Given the description of an element on the screen output the (x, y) to click on. 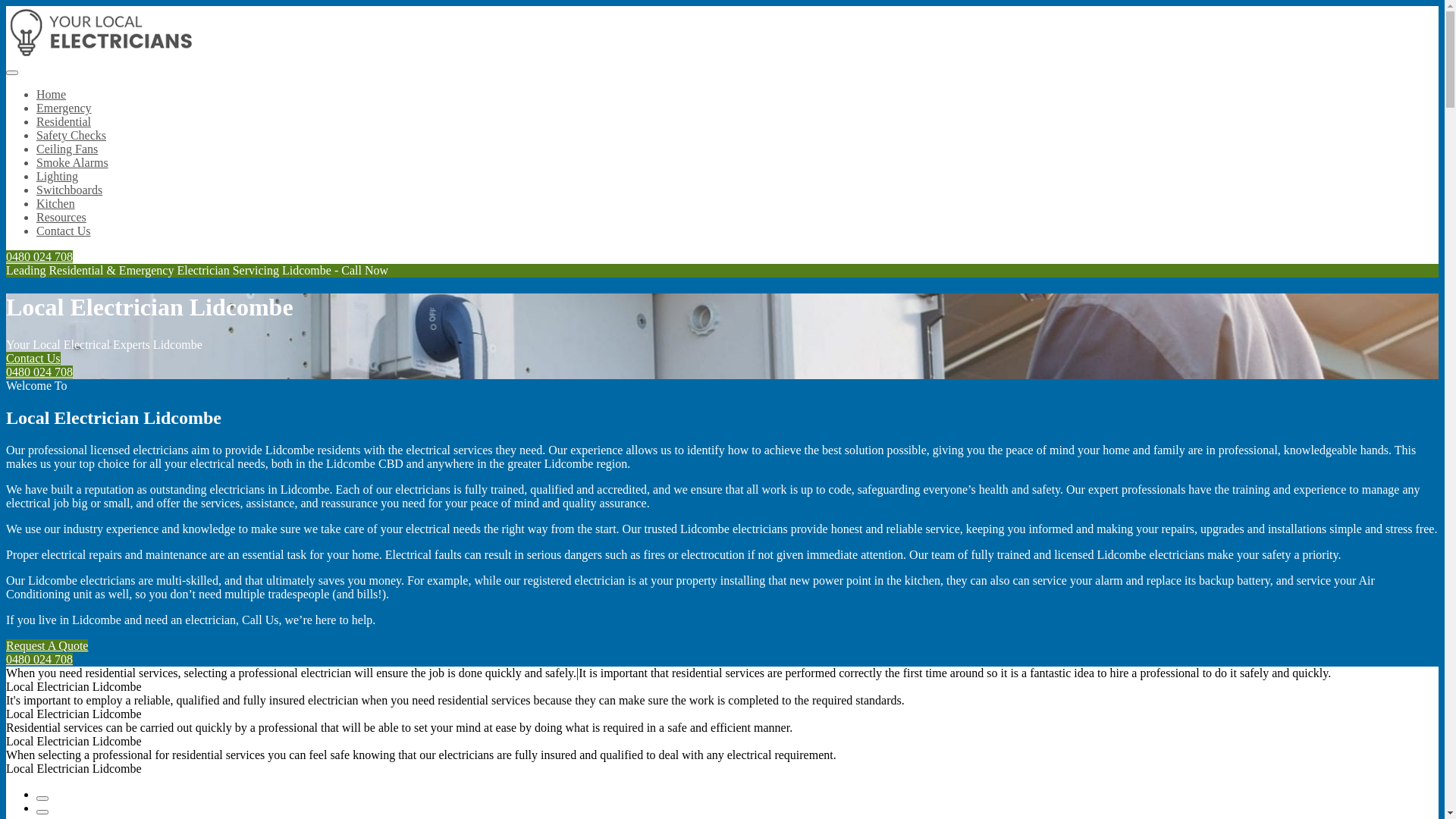
0480 024 708 Element type: text (39, 371)
0480 024 708 Element type: text (39, 256)
Kitchen Element type: text (55, 203)
Request A Quote Element type: text (46, 645)
Switchboards Element type: text (69, 189)
Contact Us Element type: text (33, 357)
Home Element type: text (50, 93)
Emergency Element type: text (63, 107)
Contact Us Element type: text (63, 230)
Residential Element type: text (63, 121)
0480 024 708 Element type: text (39, 658)
Lighting Element type: text (57, 175)
Safety Checks Element type: text (71, 134)
Smoke Alarms Element type: text (72, 162)
Ceiling Fans Element type: text (66, 148)
Electricians Element type: hover (100, 54)
Resources Element type: text (61, 216)
